Given the description of an element on the screen output the (x, y) to click on. 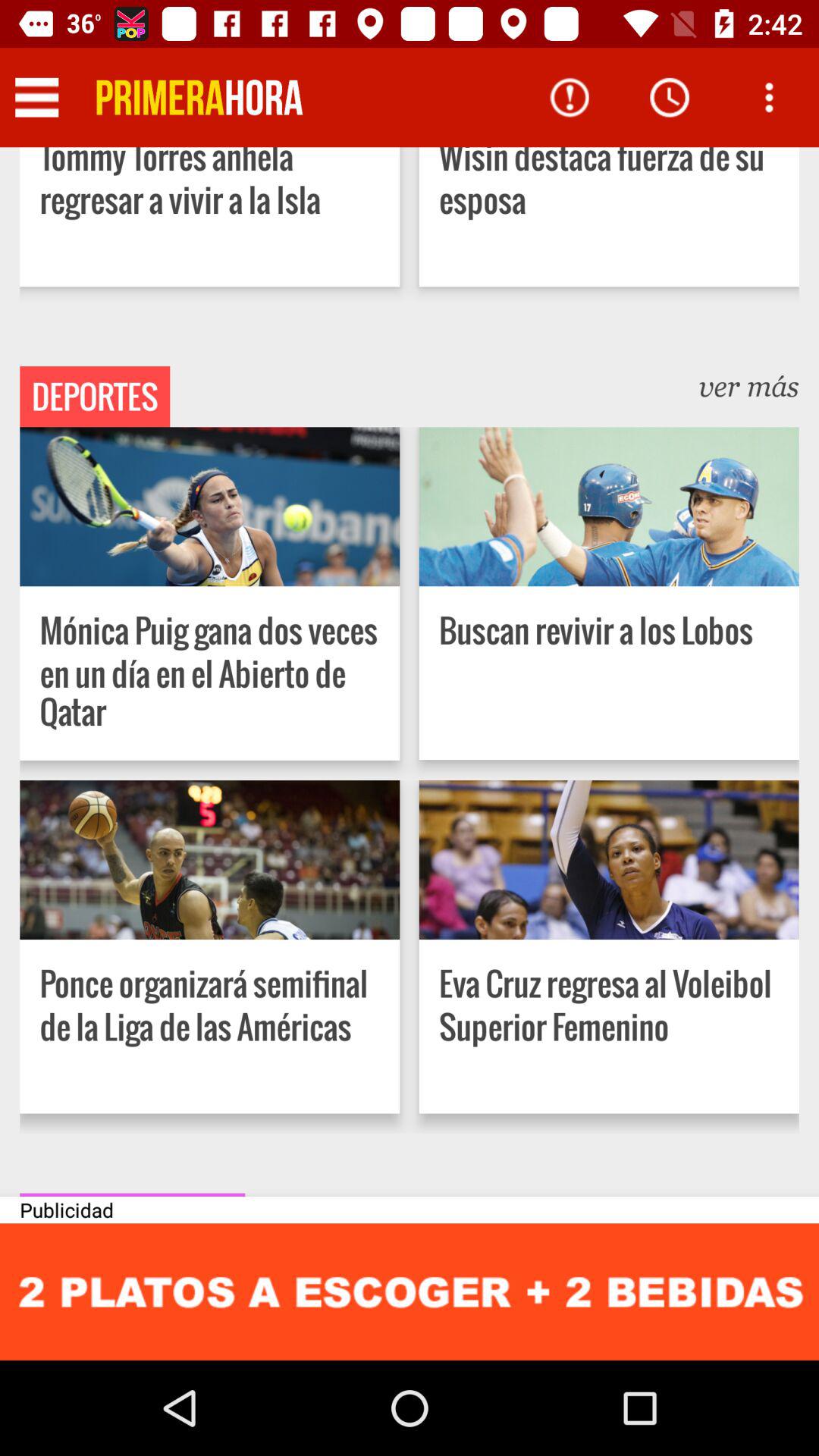
toggle menu (36, 97)
